Given the description of an element on the screen output the (x, y) to click on. 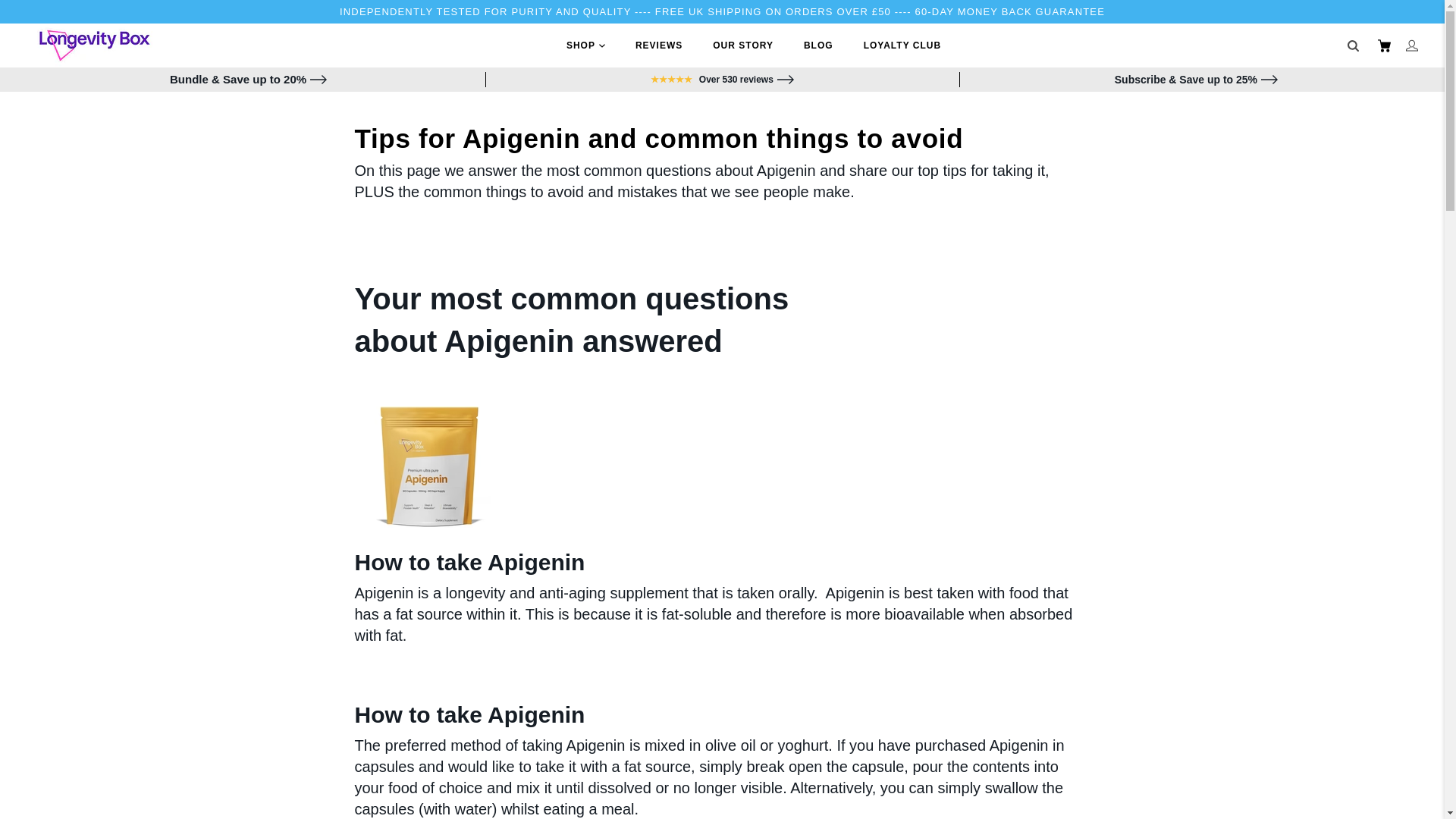
SHOP (585, 45)
